Given the description of an element on the screen output the (x, y) to click on. 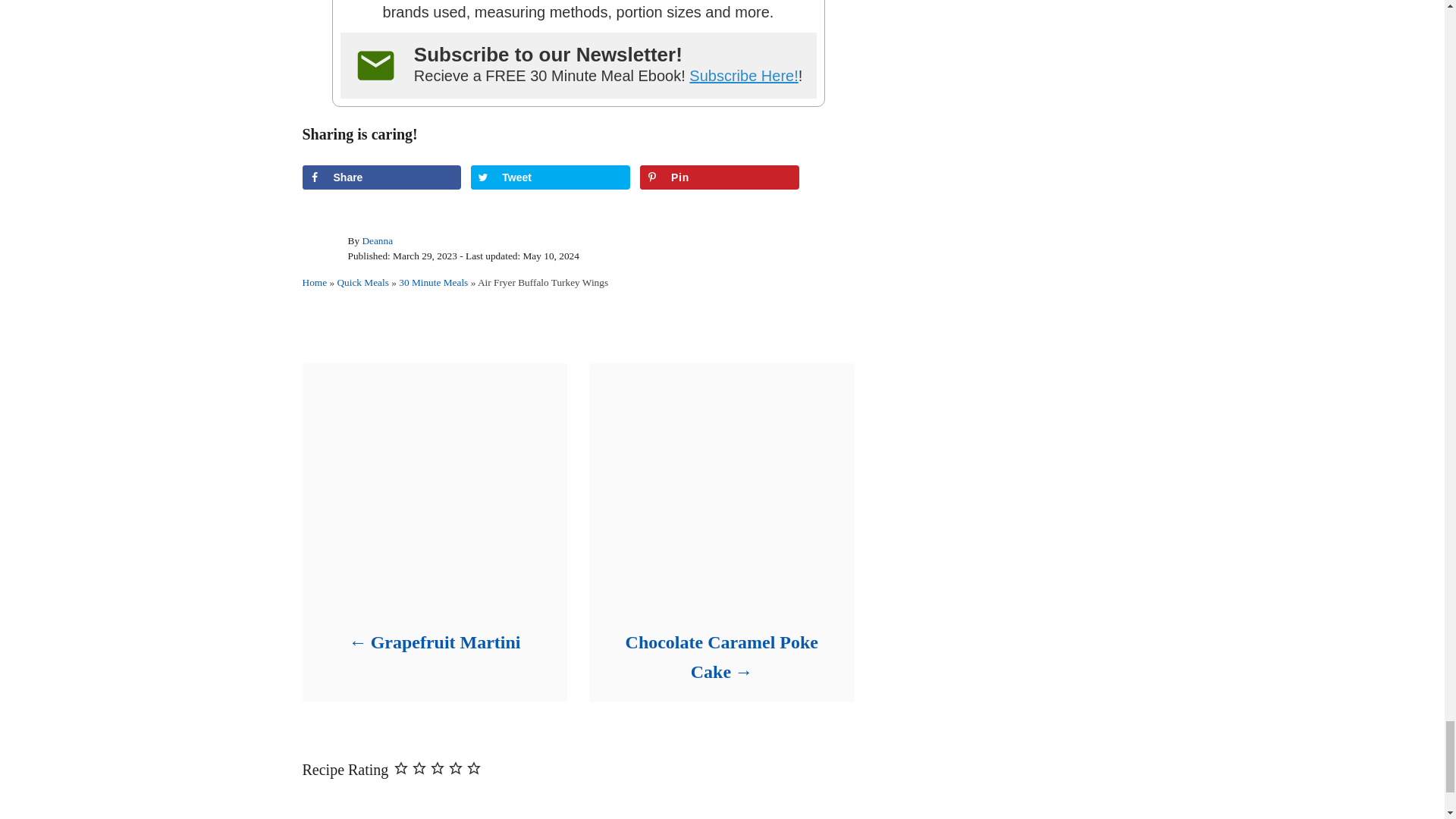
Share on Twitter (550, 177)
Save to Pinterest (719, 177)
Share on Facebook (381, 177)
